Given the description of an element on the screen output the (x, y) to click on. 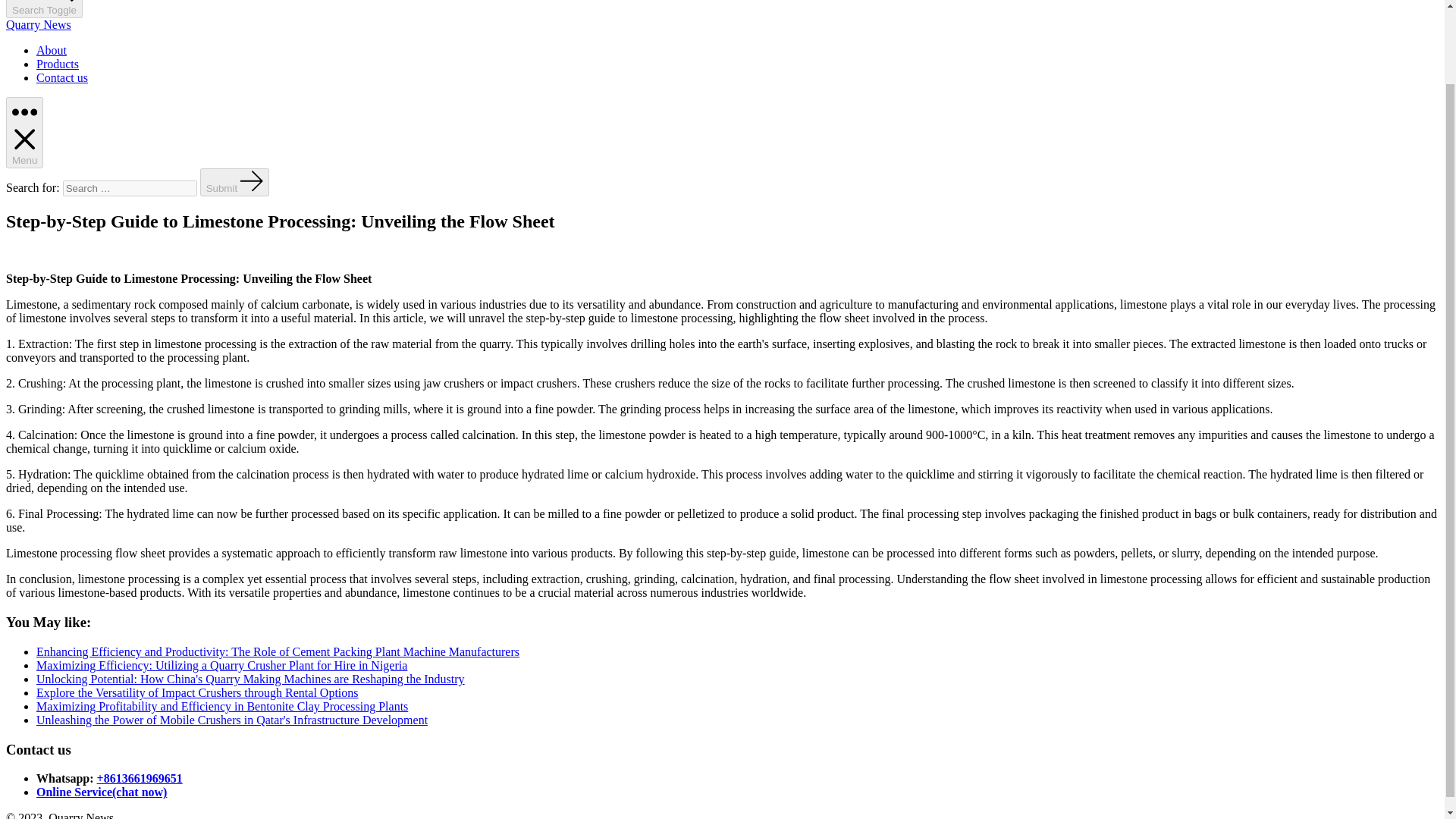
Submit (234, 182)
Products (57, 63)
Search Toggle (43, 9)
Quarry News (38, 24)
Contact us (61, 77)
Menu (24, 132)
About (51, 50)
